Given the description of an element on the screen output the (x, y) to click on. 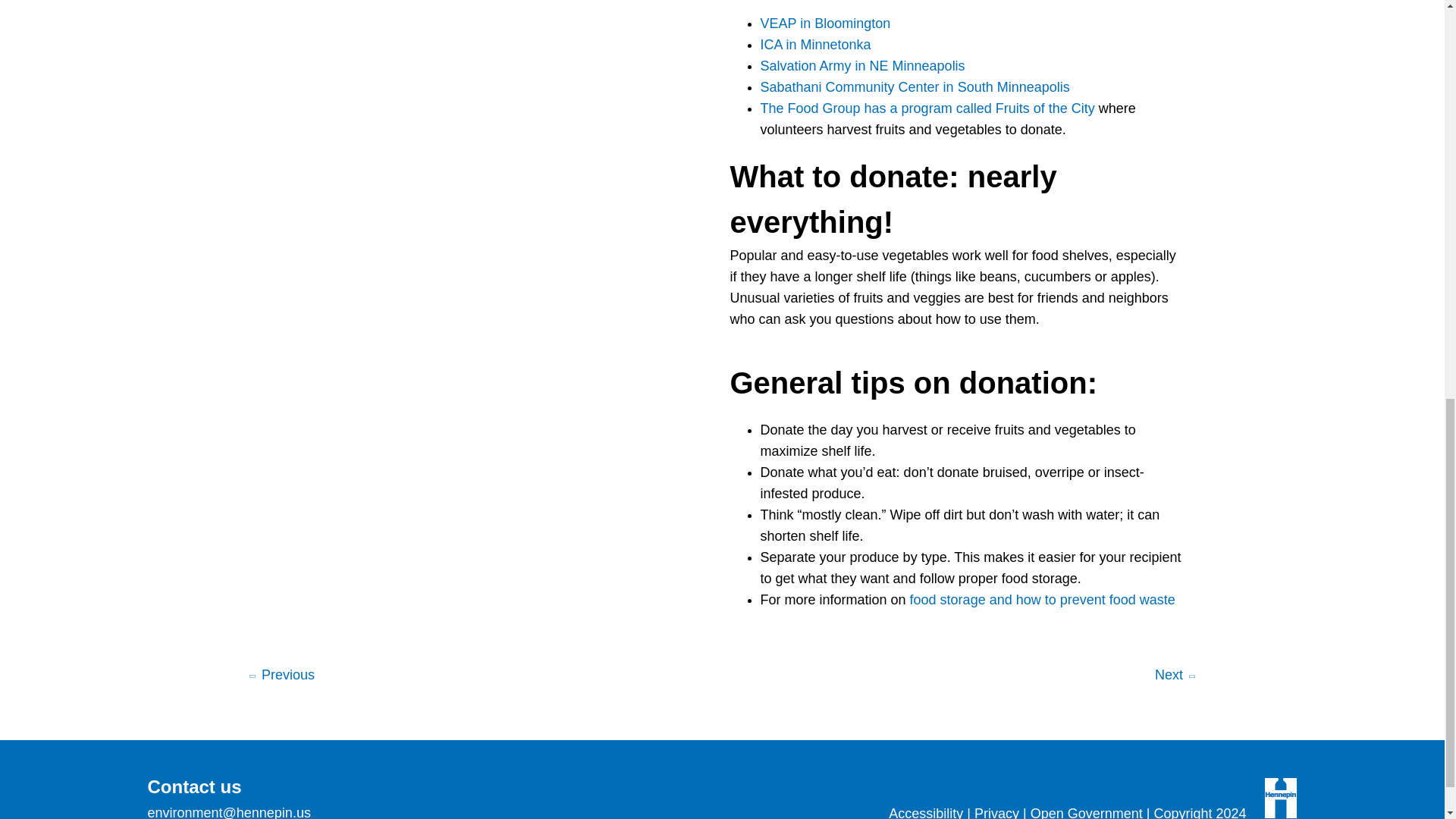
The Food Group has a program called Fruits of the City (927, 108)
ICA in Minnetonka (815, 44)
food storage and how to prevent food waste (1042, 599)
Accessibility (925, 812)
Salvation Army in NE Minneapolis (861, 65)
Next (1175, 676)
Sabathani Community Center in South Minneapolis (914, 87)
Privacy (996, 812)
VEAP in Bloomington (824, 23)
Facebook (655, 794)
Instagram (731, 794)
Twitter (693, 794)
Previous (280, 676)
Open Government (1086, 812)
